Given the description of an element on the screen output the (x, y) to click on. 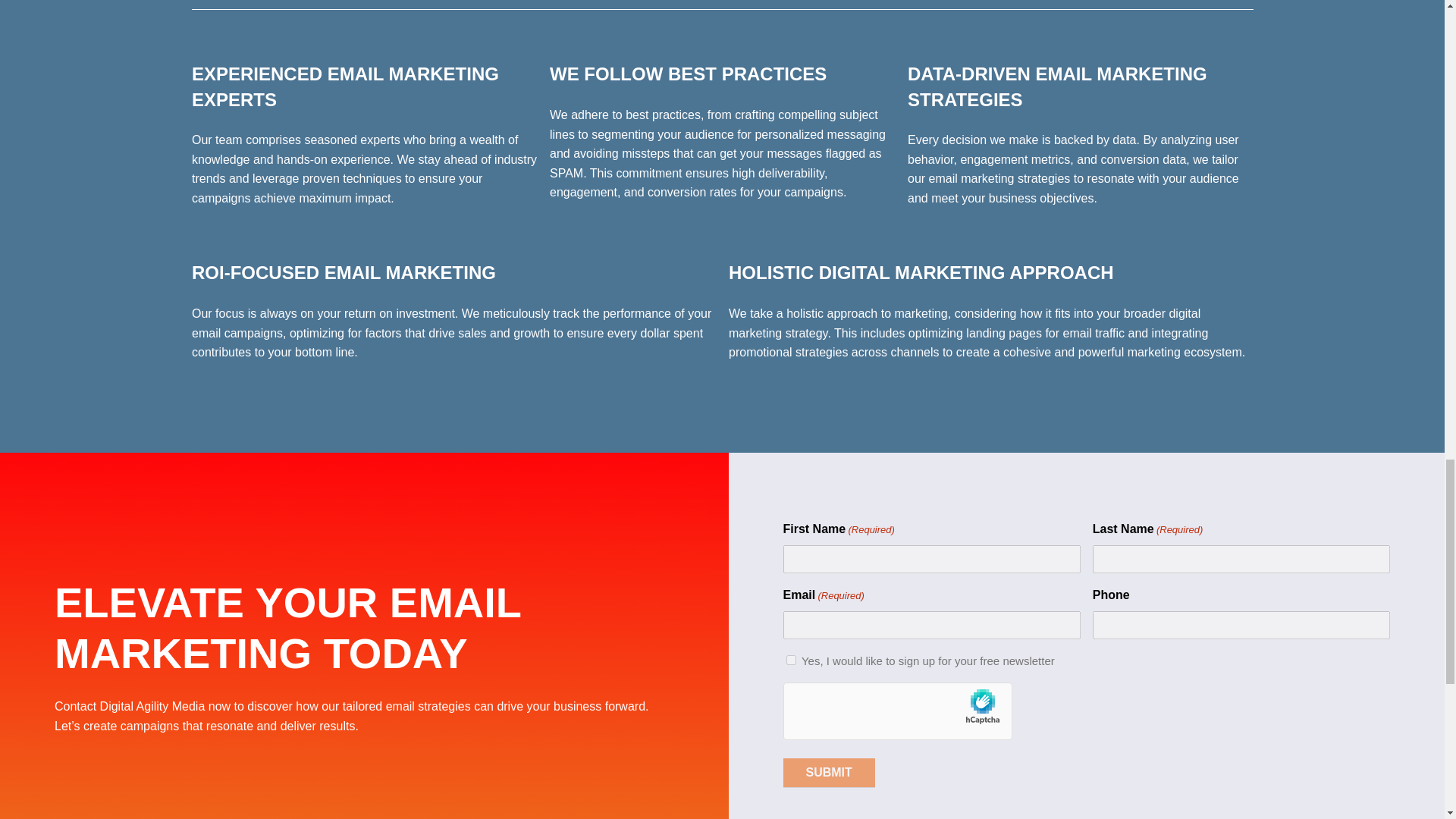
Submit (829, 772)
Submit (829, 772)
Yes, I would like to sign up for your free newsletter (790, 660)
